Given the description of an element on the screen output the (x, y) to click on. 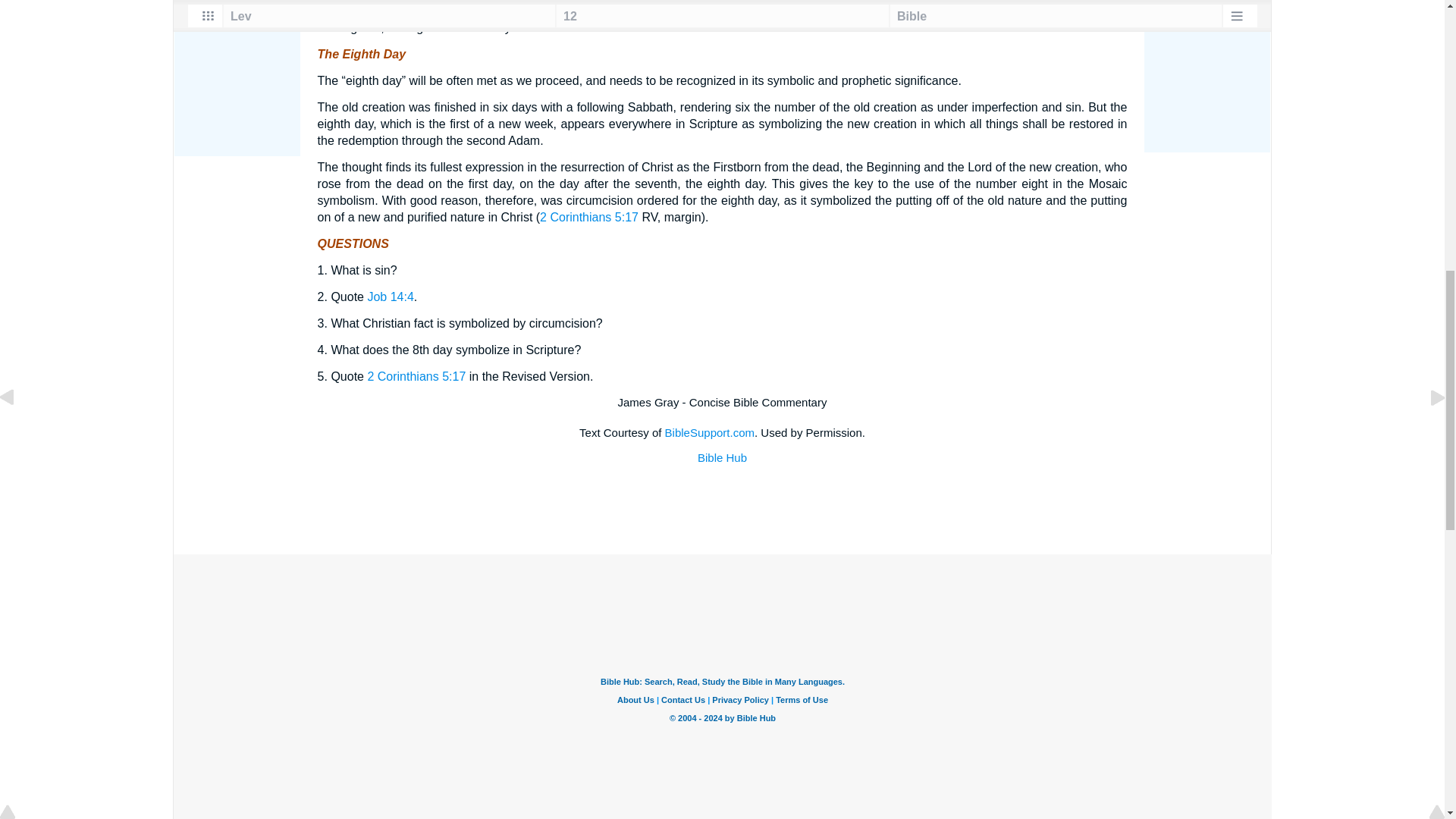
Bible Hub (721, 457)
Who can bring a clean thing out of an unclean? not one. (389, 296)
BibleSupport.com (709, 431)
2 Corinthians 5:17 (415, 376)
2 Corinthians 5:17 (589, 216)
Top of Page (18, 1)
Job 14:4 (389, 296)
